Given the description of an element on the screen output the (x, y) to click on. 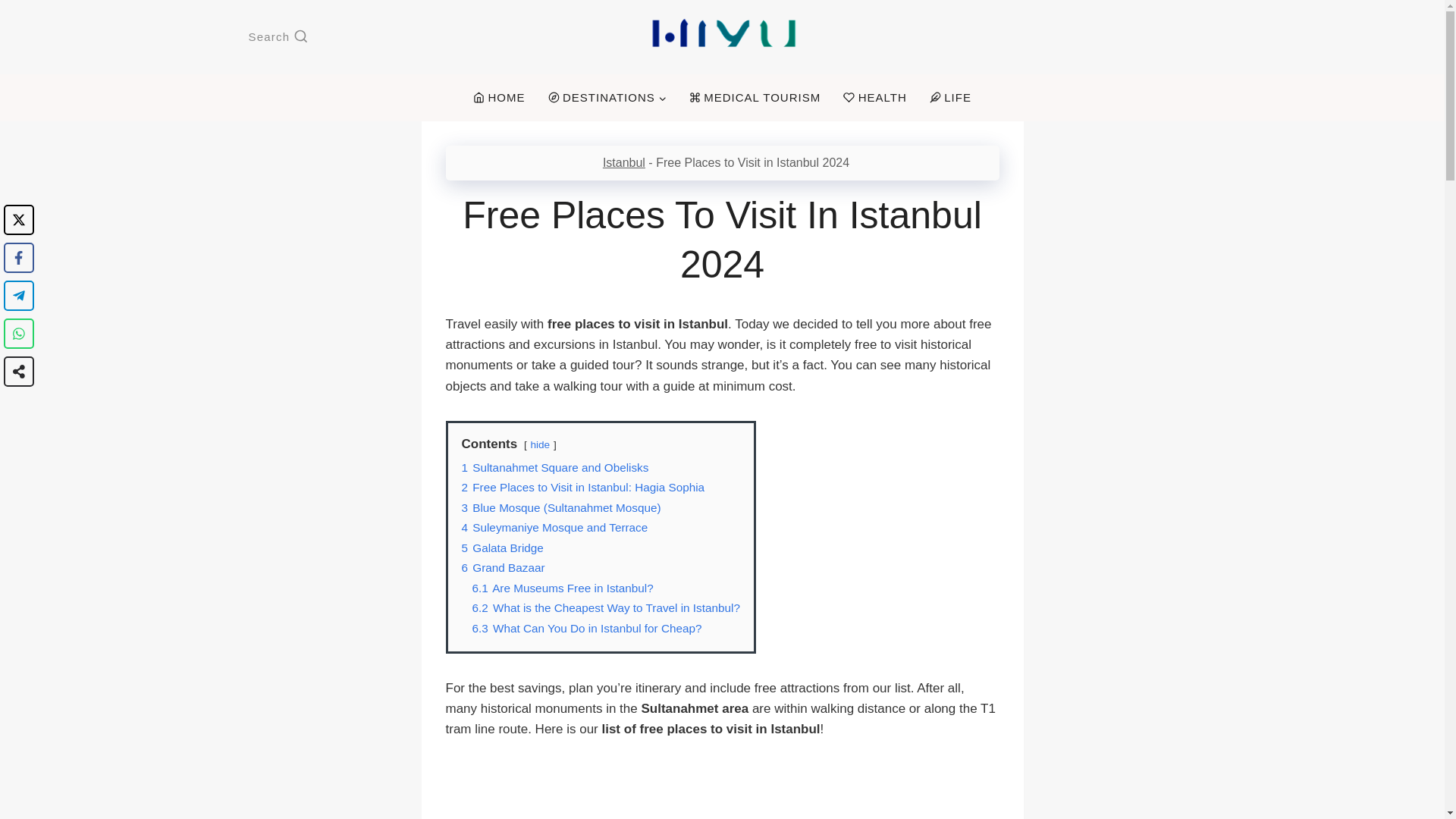
6.2 What is the Cheapest Way to Travel in Istanbul? (605, 607)
6.3 What Can You Do in Istanbul for Cheap? (586, 627)
1 Sultanahmet Square and Obelisks (554, 467)
6 Grand Bazaar (502, 567)
DESTINATIONS (607, 97)
5 Galata Bridge (502, 547)
4 Suleymaniye Mosque and Terrace (554, 526)
2 Free Places to Visit in Istanbul: Hagia Sophia (582, 486)
LIFE (950, 97)
HEALTH (874, 97)
